Given the description of an element on the screen output the (x, y) to click on. 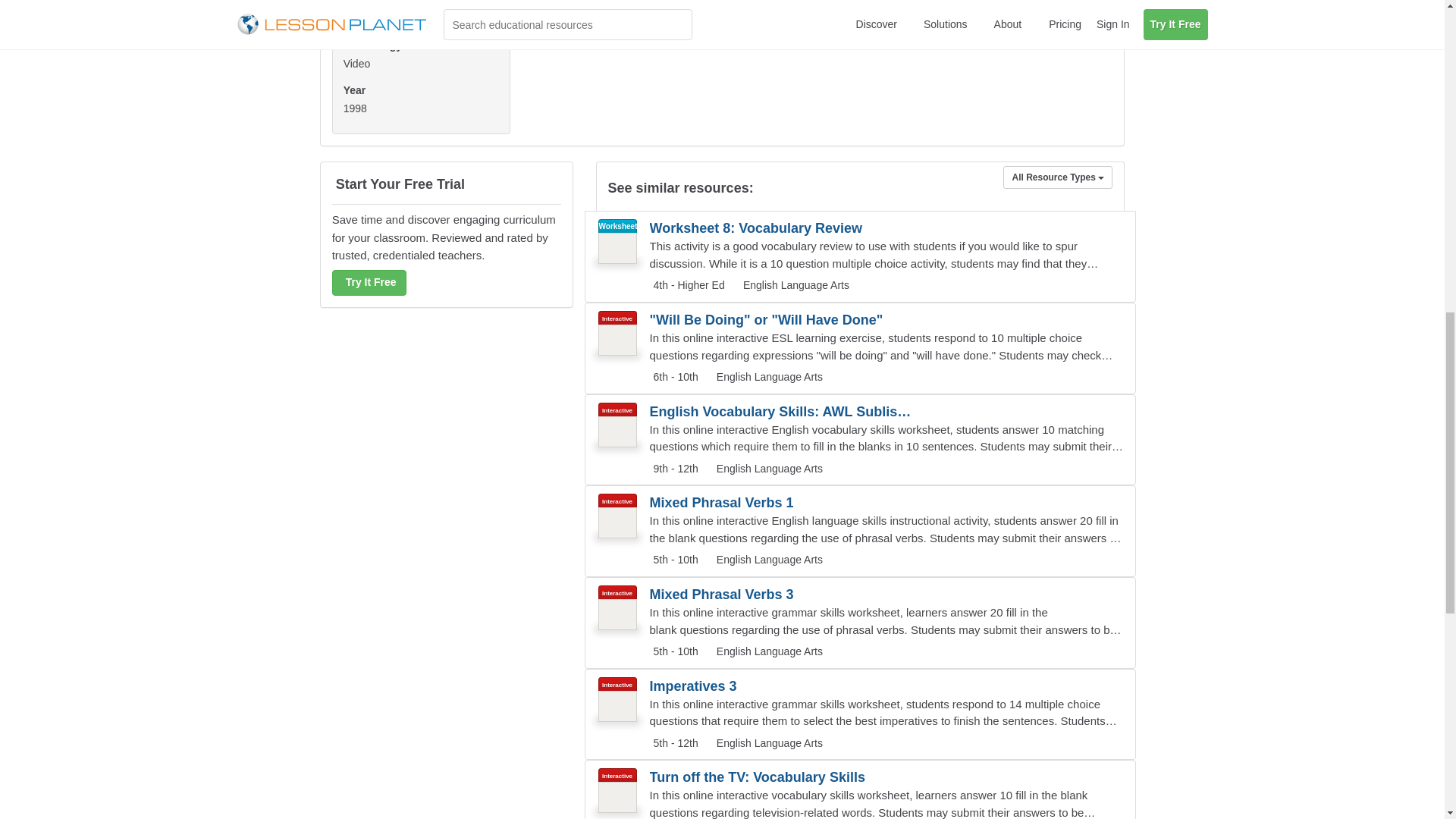
English Vocabulary Skills: AWL Sublist 9 - Exercise 2a (781, 411)
"Will Be Doing" or "Will Have Done" (781, 320)
"Will Be Doing" or "Will Have Done" Interactive (860, 348)
Grades (687, 285)
Subject (793, 285)
Grades (673, 469)
Subject (767, 377)
Mixed Phrasal Verbs 1 Interactive (860, 530)
Worksheet 8: Vocabulary Review (781, 228)
